Given the description of an element on the screen output the (x, y) to click on. 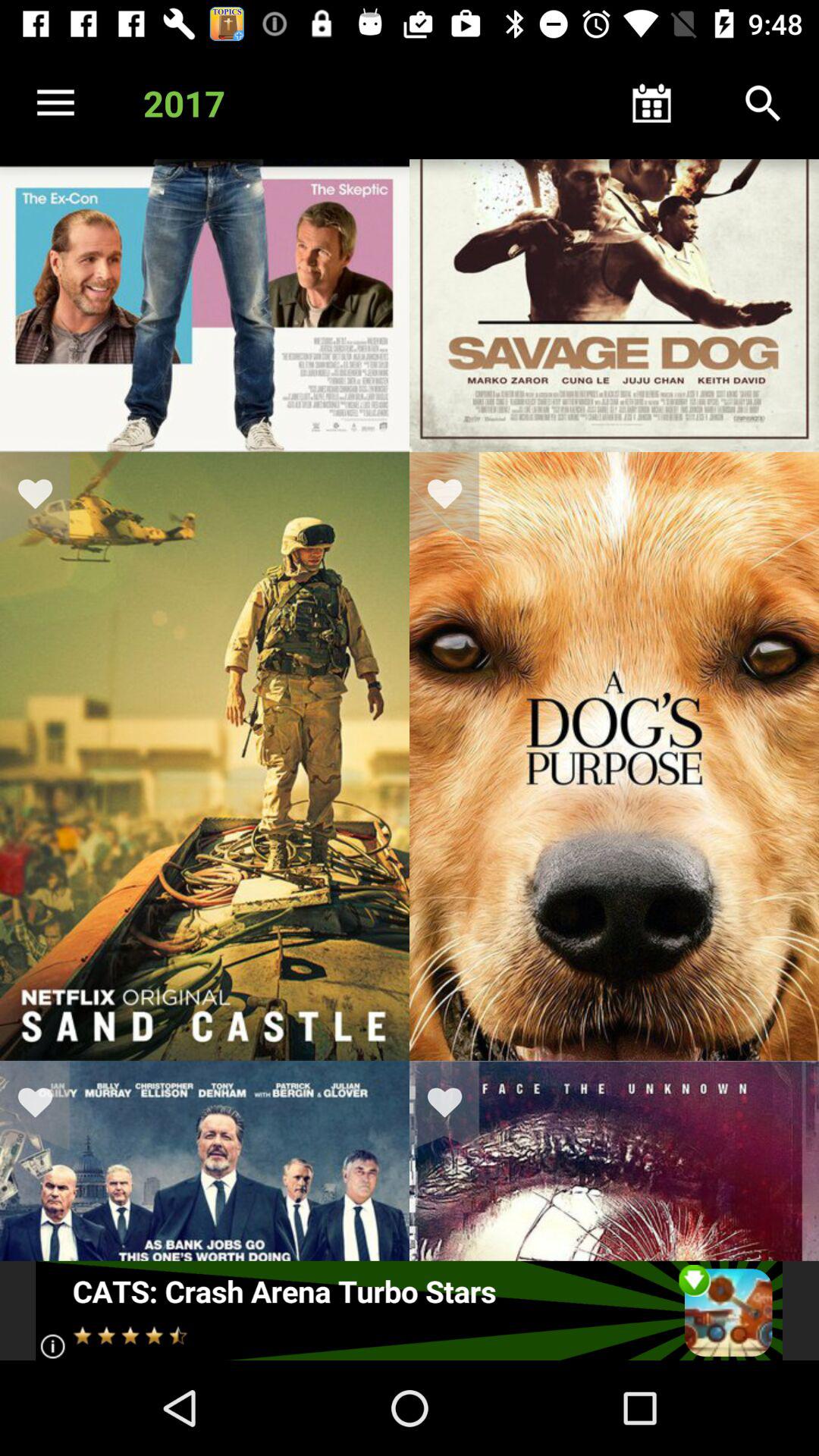
tap to open the advertisement (408, 1310)
